Given the description of an element on the screen output the (x, y) to click on. 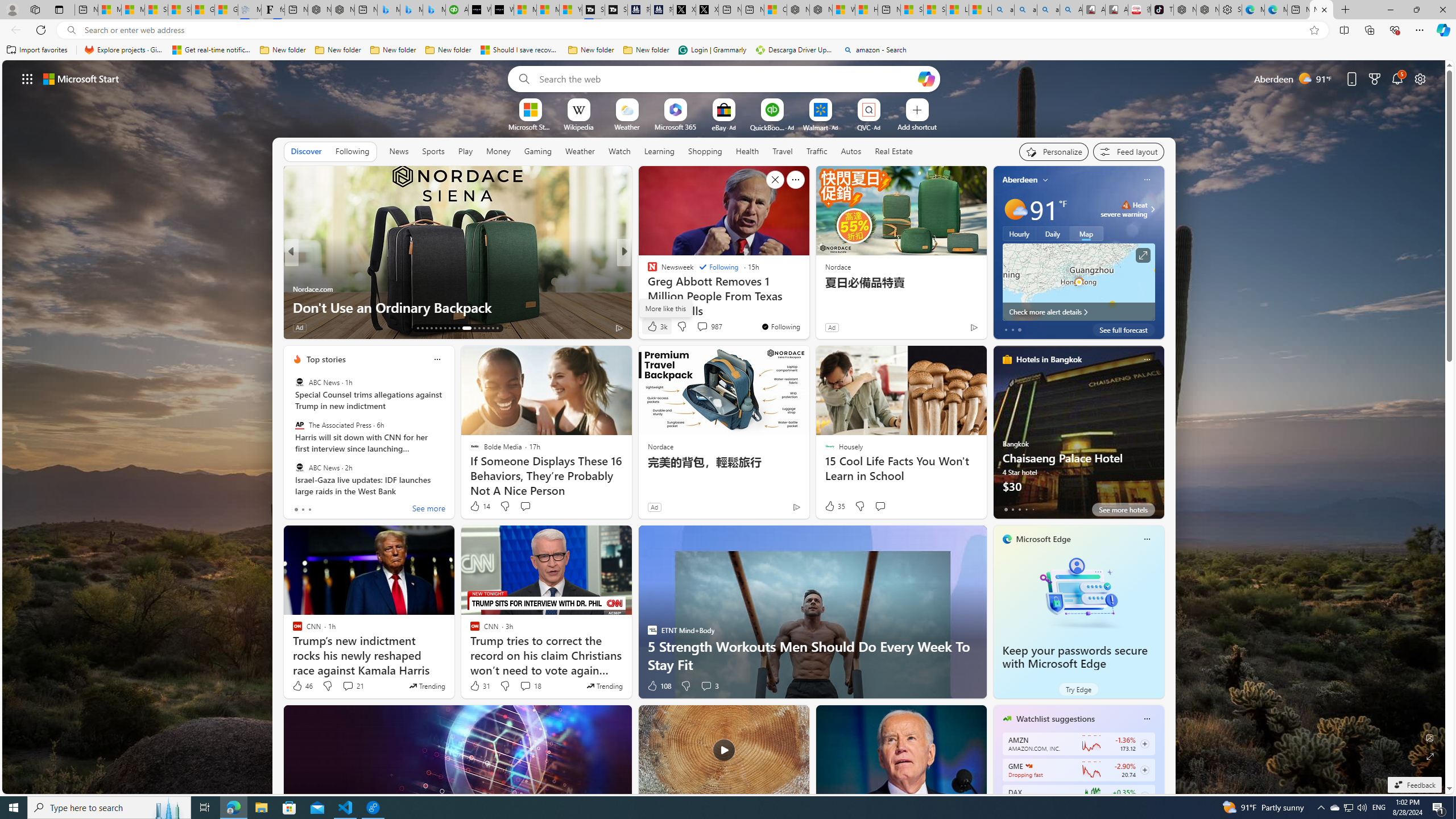
AutomationID: tab-29 (497, 328)
Shopping (705, 151)
Watch (619, 151)
Microsoft Bing Travel - Shangri-La Hotel Bangkok (433, 9)
Play (465, 151)
Microsoft Start Sports (529, 126)
FOX News (647, 270)
View comments 1 Comment (351, 327)
AutomationID: tab-25 (478, 328)
View comments 22 Comment (6, 327)
amazon - Search (1025, 9)
